Given the description of an element on the screen output the (x, y) to click on. 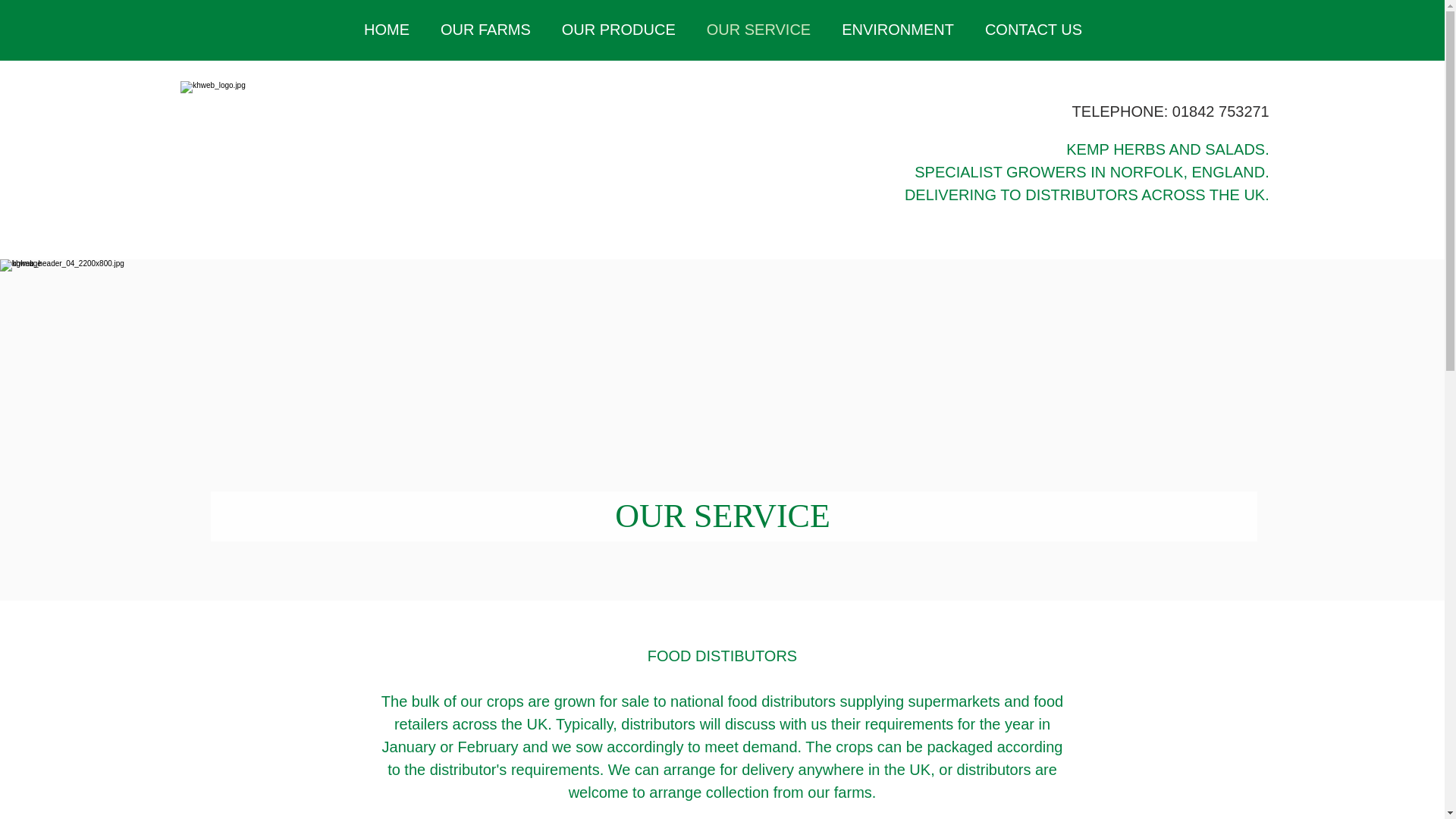
OUR SERVICE (778, 281)
CONTACT US (1151, 281)
OUR PRODUCE (592, 281)
HOME (270, 281)
CONTACT US (1033, 29)
OUR PRODUCE (618, 29)
OUR FARMS (485, 29)
ENVIRONMENT (898, 29)
HOME (387, 29)
ENVIRONMENT (966, 281)
OUR FARMS (413, 281)
OUR SERVICE (757, 29)
